Given the description of an element on the screen output the (x, y) to click on. 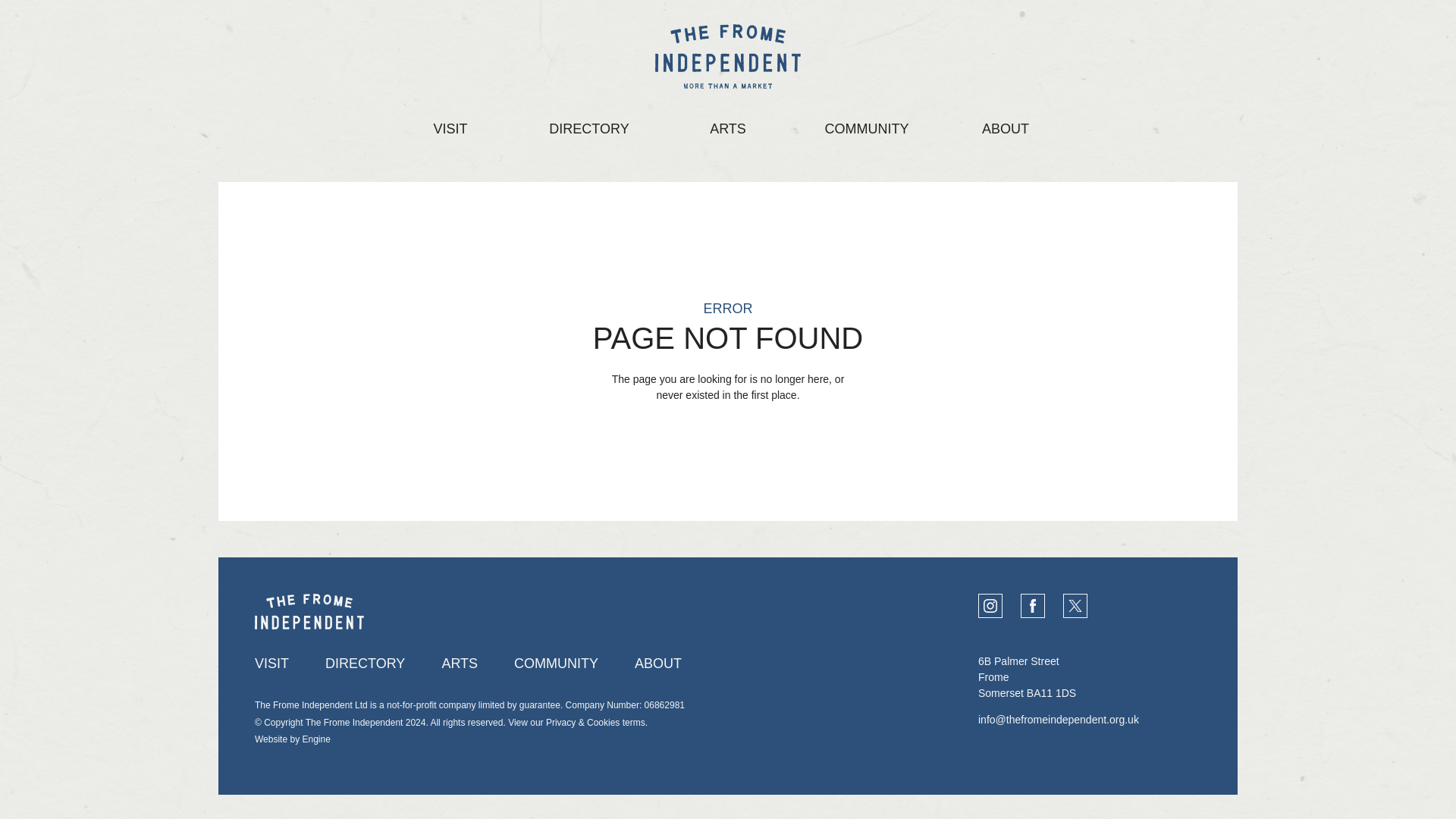
VISIT (449, 128)
ARTS (727, 128)
The Frome Independent (727, 56)
DIRECTORY (588, 128)
Engine (315, 738)
ABOUT (1005, 128)
ARTS (459, 663)
DIRECTORY (364, 663)
VISIT (271, 663)
ABOUT (657, 663)
COMMUNITY (555, 663)
COMMUNITY (866, 128)
